Given the description of an element on the screen output the (x, y) to click on. 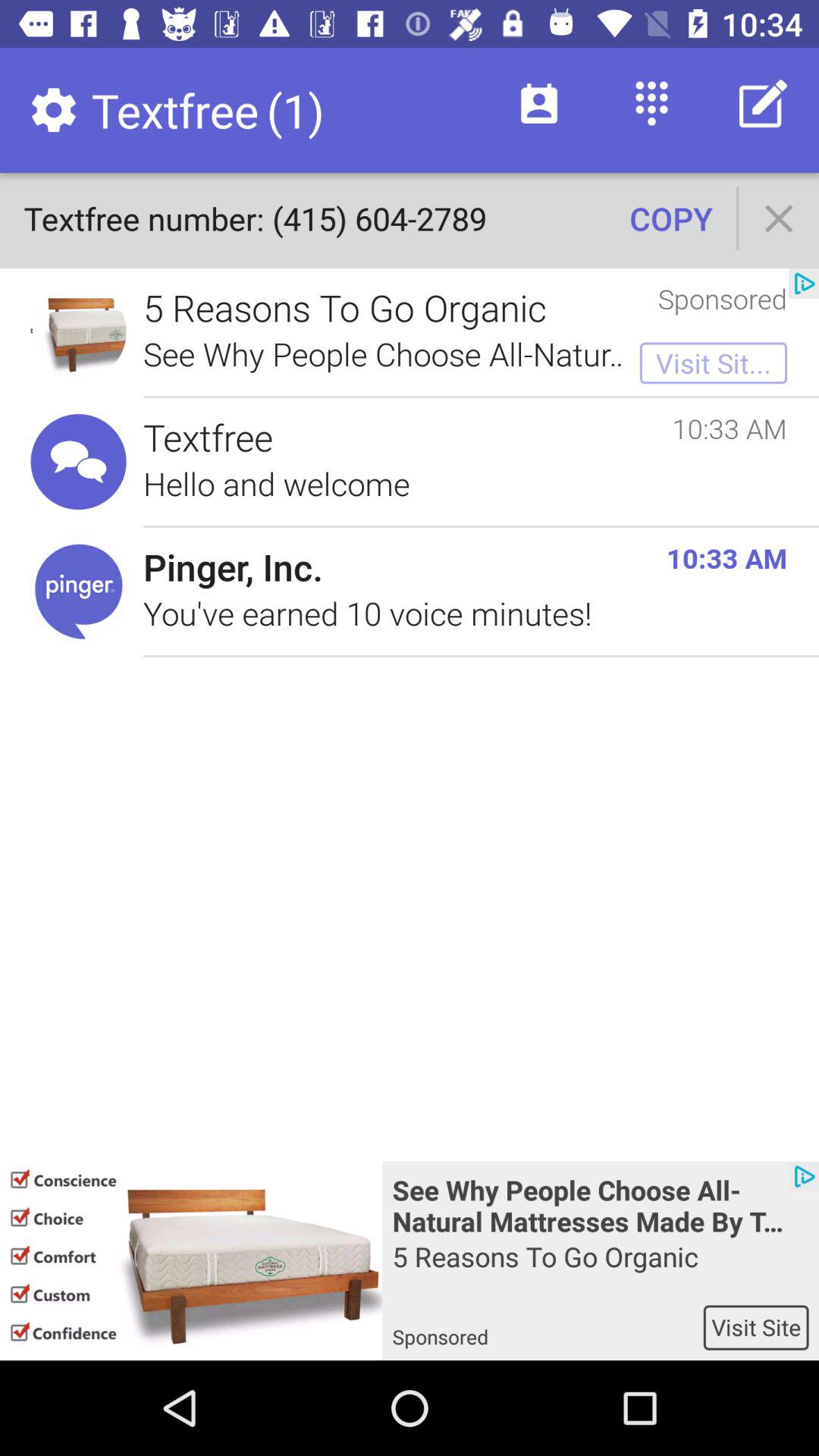
launch icon above sponsored (670, 218)
